Given the description of an element on the screen output the (x, y) to click on. 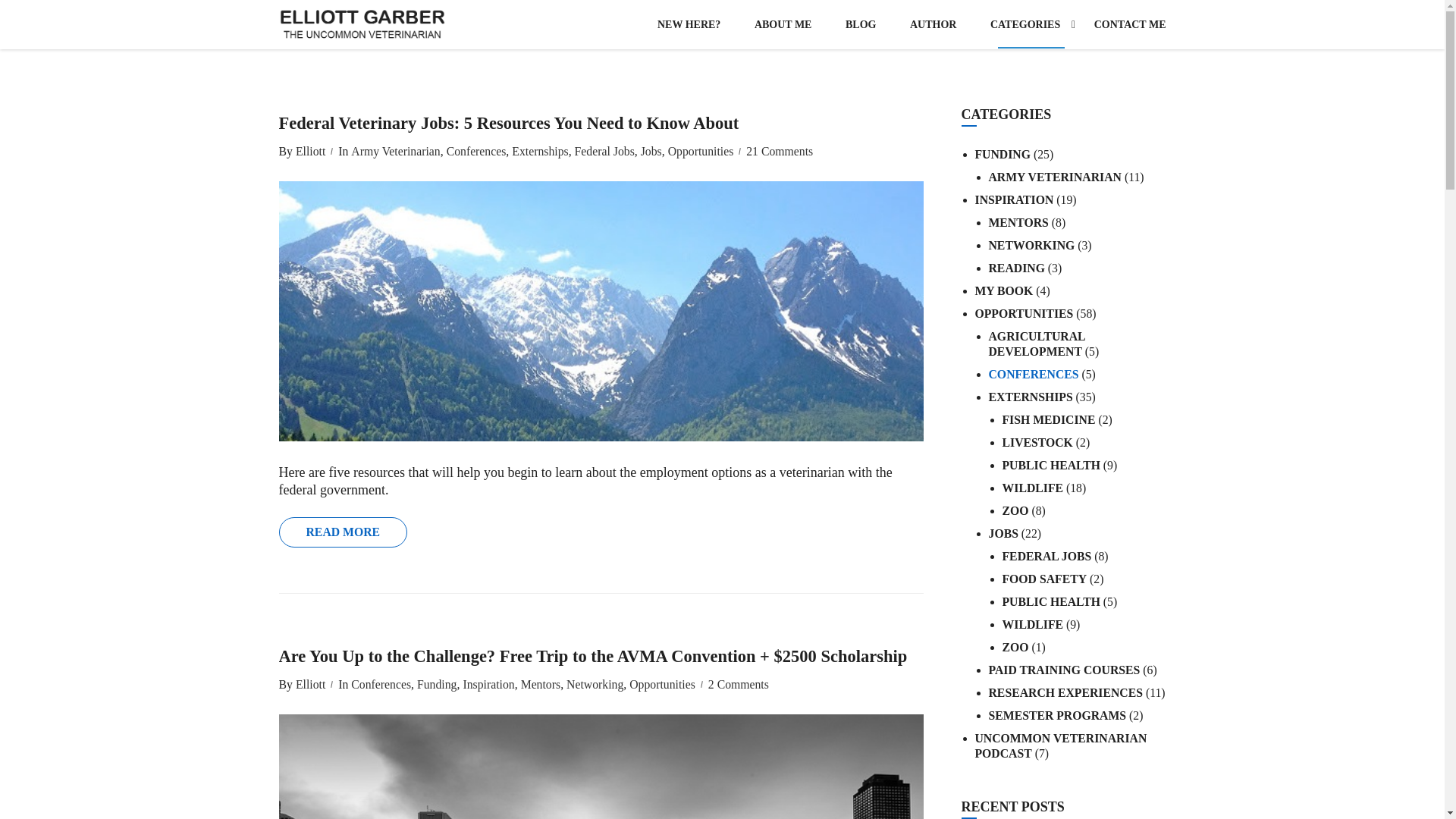
Federal Veterinary Jobs: 5 Resources You Need to Know About (601, 123)
Jobs (649, 151)
BLOG (860, 24)
Conferences (475, 151)
ABOUT ME (783, 24)
CONTACT ME (1122, 24)
Externships (537, 151)
Federal Jobs (603, 151)
Elliott Garber - The Uncommon Veterinarian (362, 24)
CATEGORIES (1025, 24)
Elliott (308, 151)
Opportunities (699, 151)
NEW HERE? (688, 24)
21 Comments (778, 151)
Army Veterinarian (393, 151)
